Given the description of an element on the screen output the (x, y) to click on. 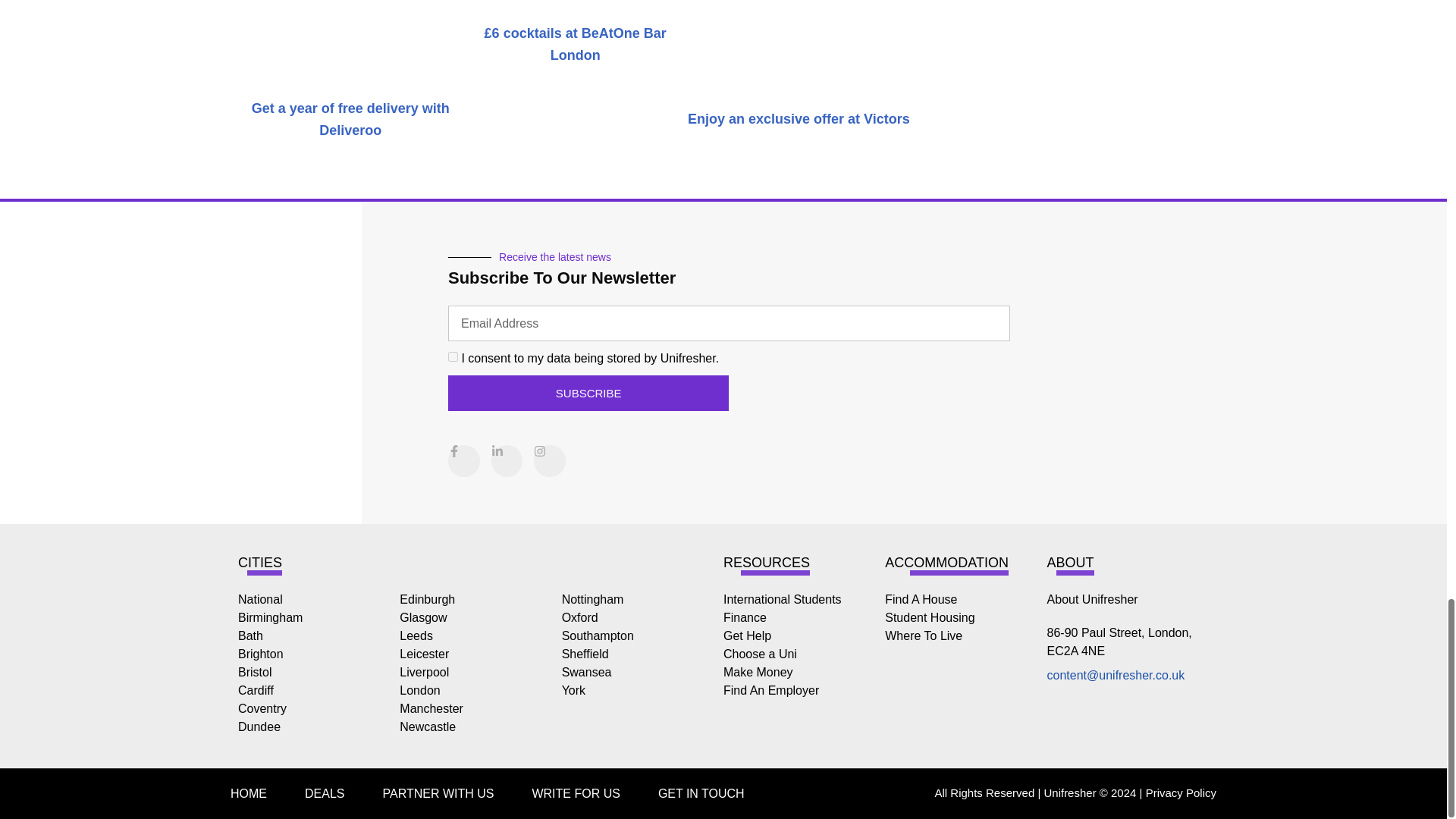
on (453, 356)
